Given the description of an element on the screen output the (x, y) to click on. 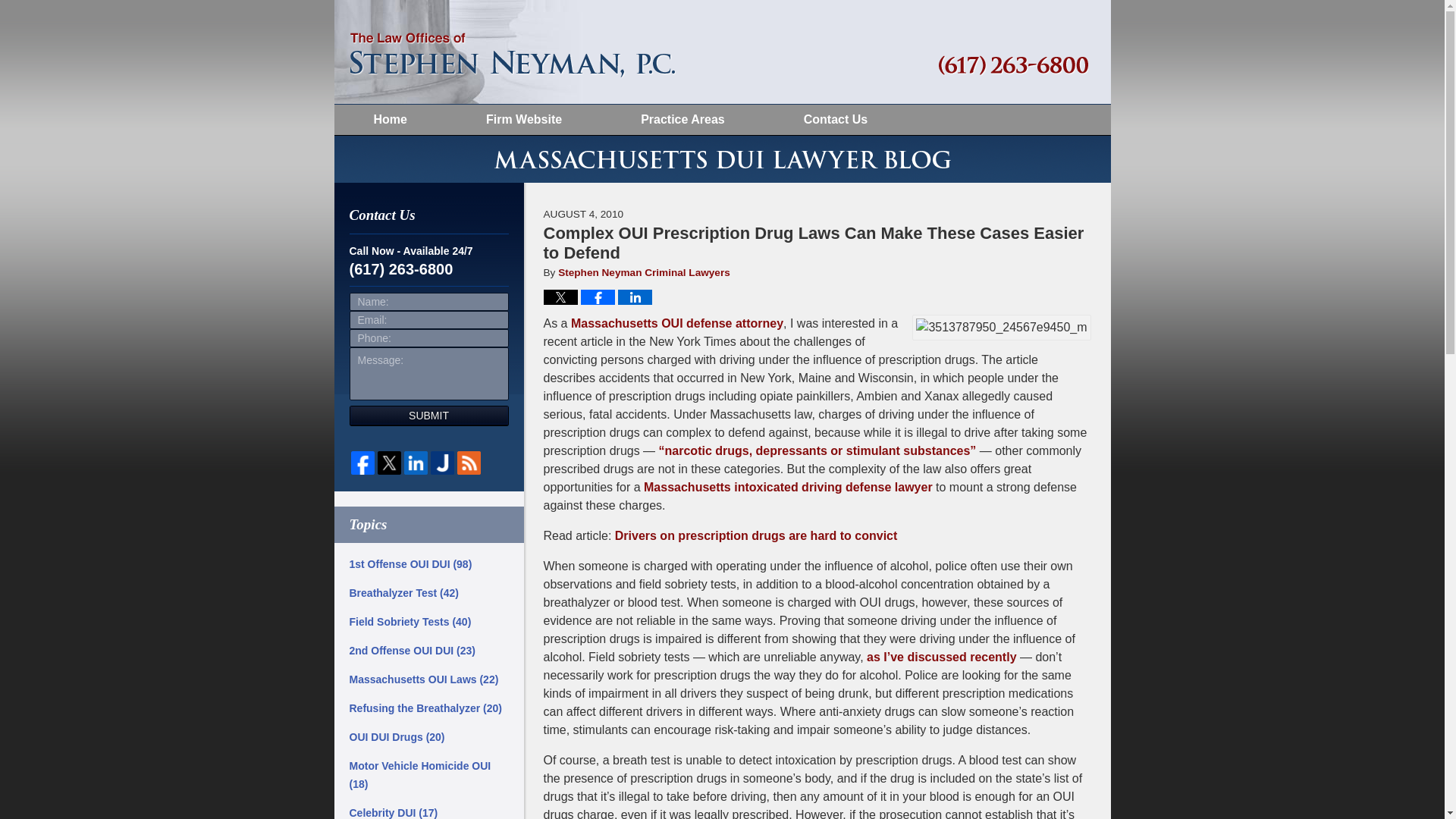
Justia (442, 463)
Massachusetts intoxicated driving defense lawyer (788, 486)
Home (389, 119)
SUBMIT (428, 415)
Feed (467, 463)
Drivers on prescription drugs are hard to convict (756, 535)
Facebook (362, 463)
Contact Us (835, 119)
Massachusetts OUI defense attorney (676, 323)
Please enter a valid phone number. (428, 338)
Published By Stephen Neyman, P.C. (1013, 65)
LinkedIn (414, 463)
Stephen Neyman Criminal Lawyers (643, 272)
Twitter (389, 463)
Firm Website (523, 119)
